Given the description of an element on the screen output the (x, y) to click on. 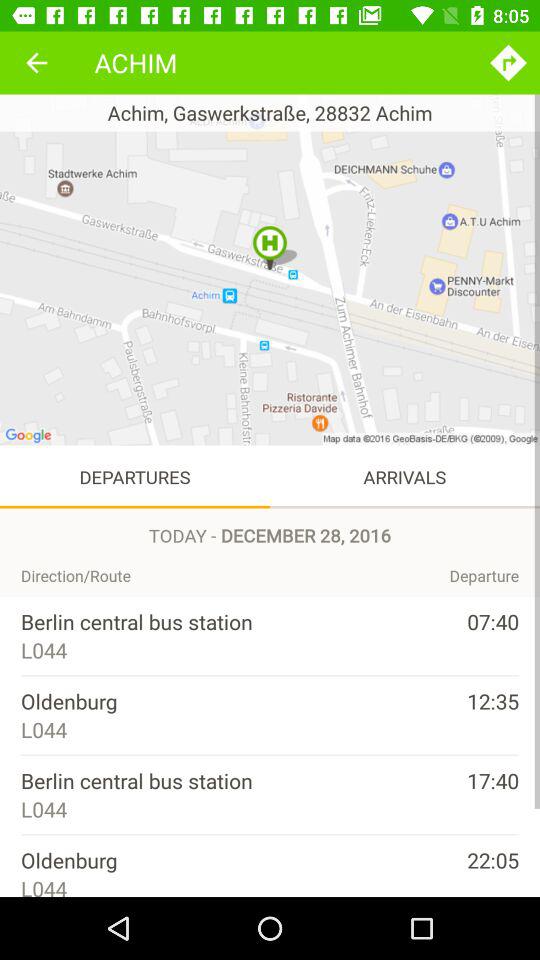
tap the item next to the achim item (36, 62)
